Given the description of an element on the screen output the (x, y) to click on. 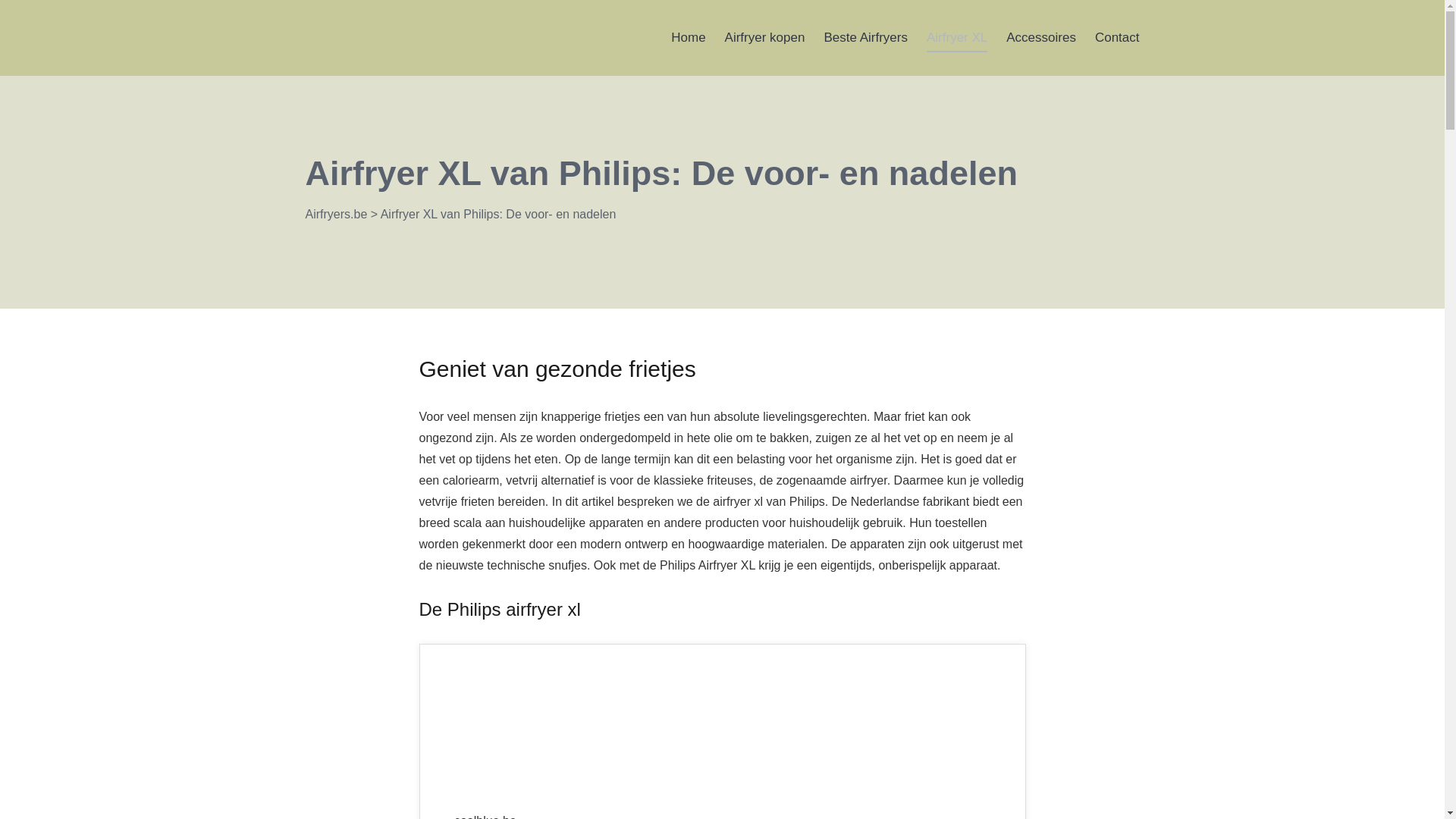
Beste Airfryers Element type: text (865, 37)
Accessoires Element type: text (1041, 37)
Contact Element type: text (1117, 37)
Airfryer kopen Element type: text (764, 37)
Home Element type: text (688, 37)
Airfryer XL Element type: text (956, 38)
Airfryers.be Element type: text (335, 213)
